Given the description of an element on the screen output the (x, y) to click on. 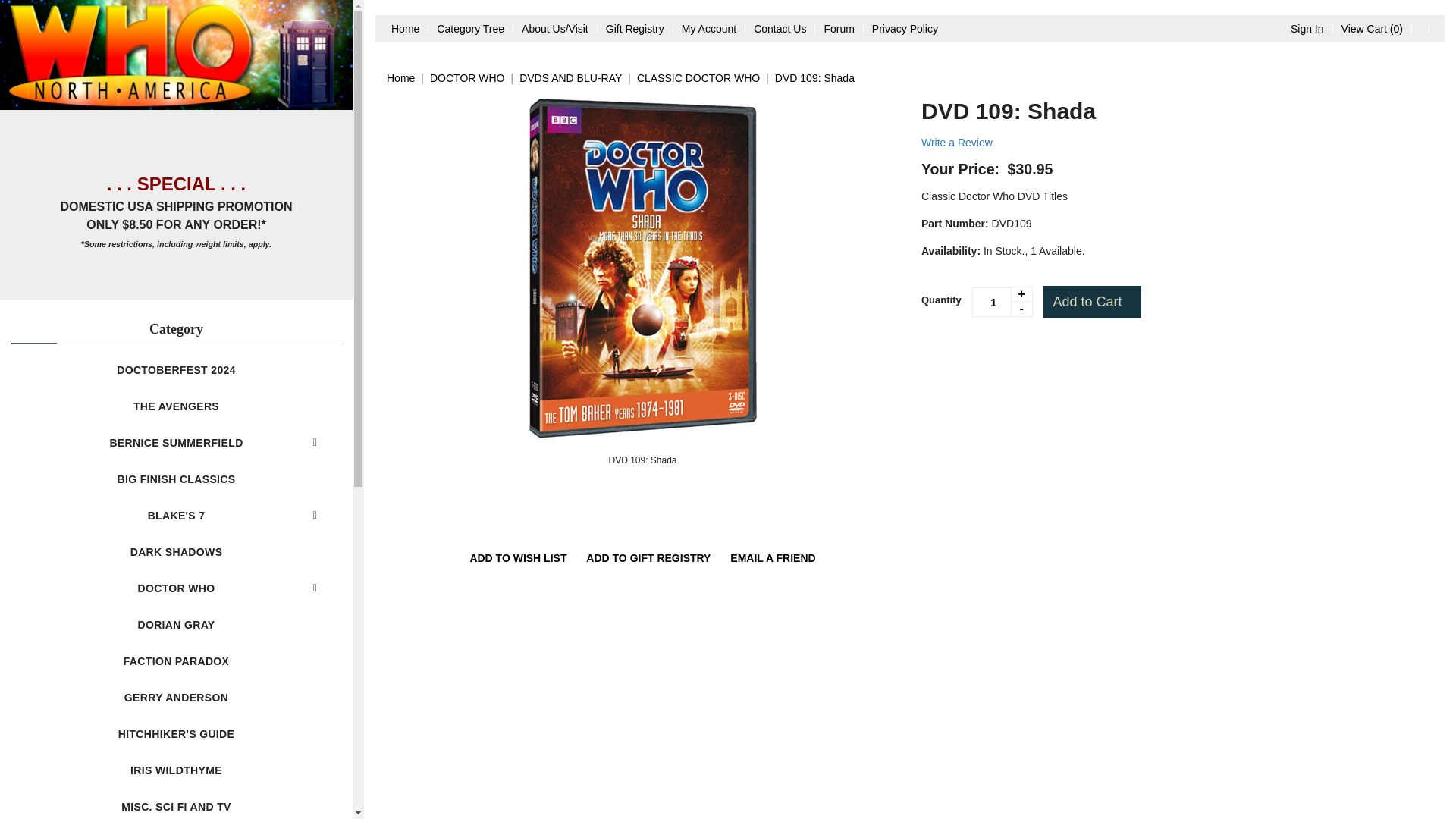
1 (1002, 301)
BIG FINISH CLASSICS (176, 479)
DVD 109: Shada  (642, 460)
DARK SHADOWS (176, 551)
BLAKE'S 7 (176, 515)
BERNICE SUMMERFIELD (176, 443)
DOCTOBERFEST 2024 (176, 370)
THE AVENGERS (176, 406)
